Given the description of an element on the screen output the (x, y) to click on. 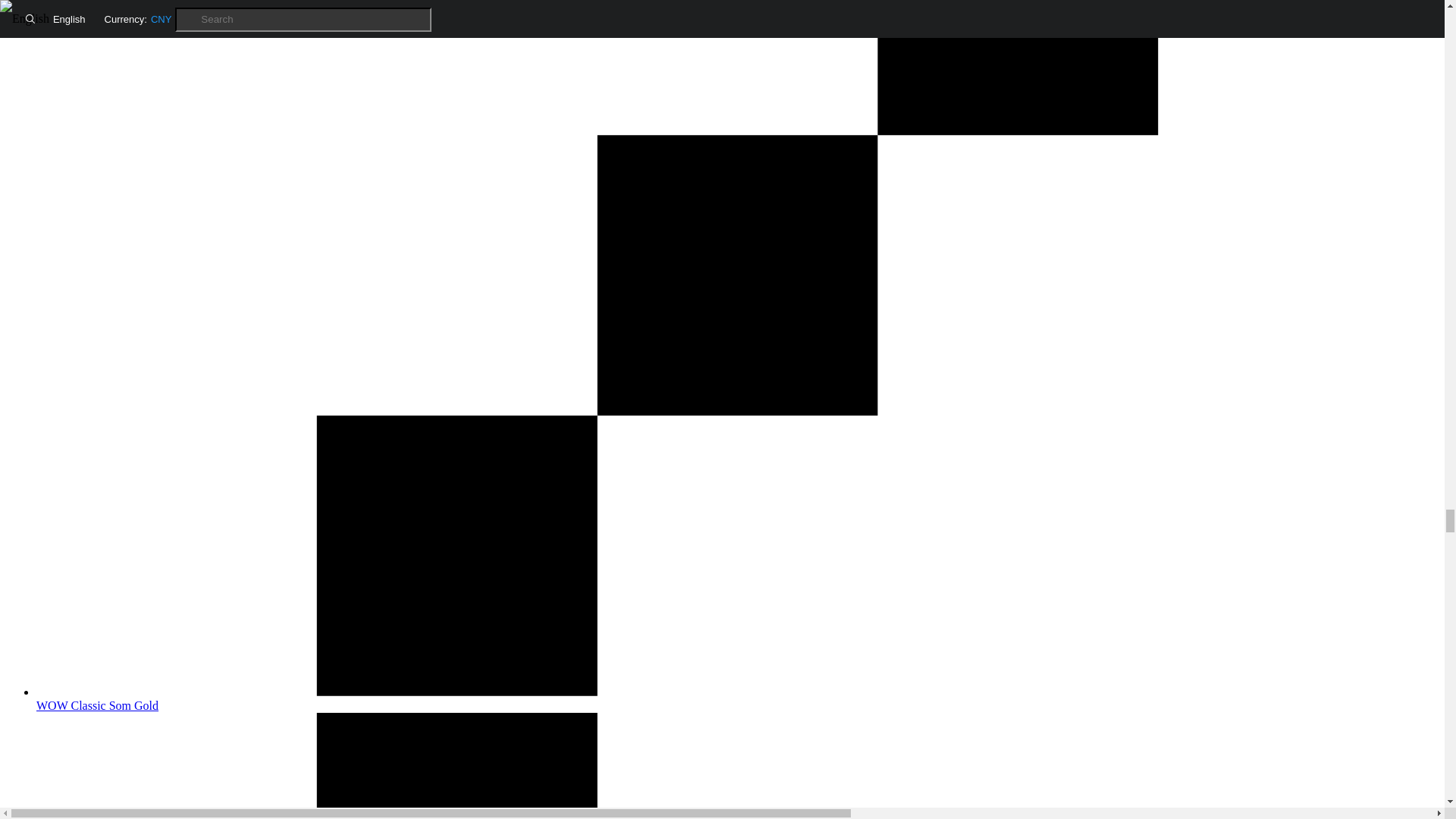
WOW Classic Som Gold (737, 698)
